Given the description of an element on the screen output the (x, y) to click on. 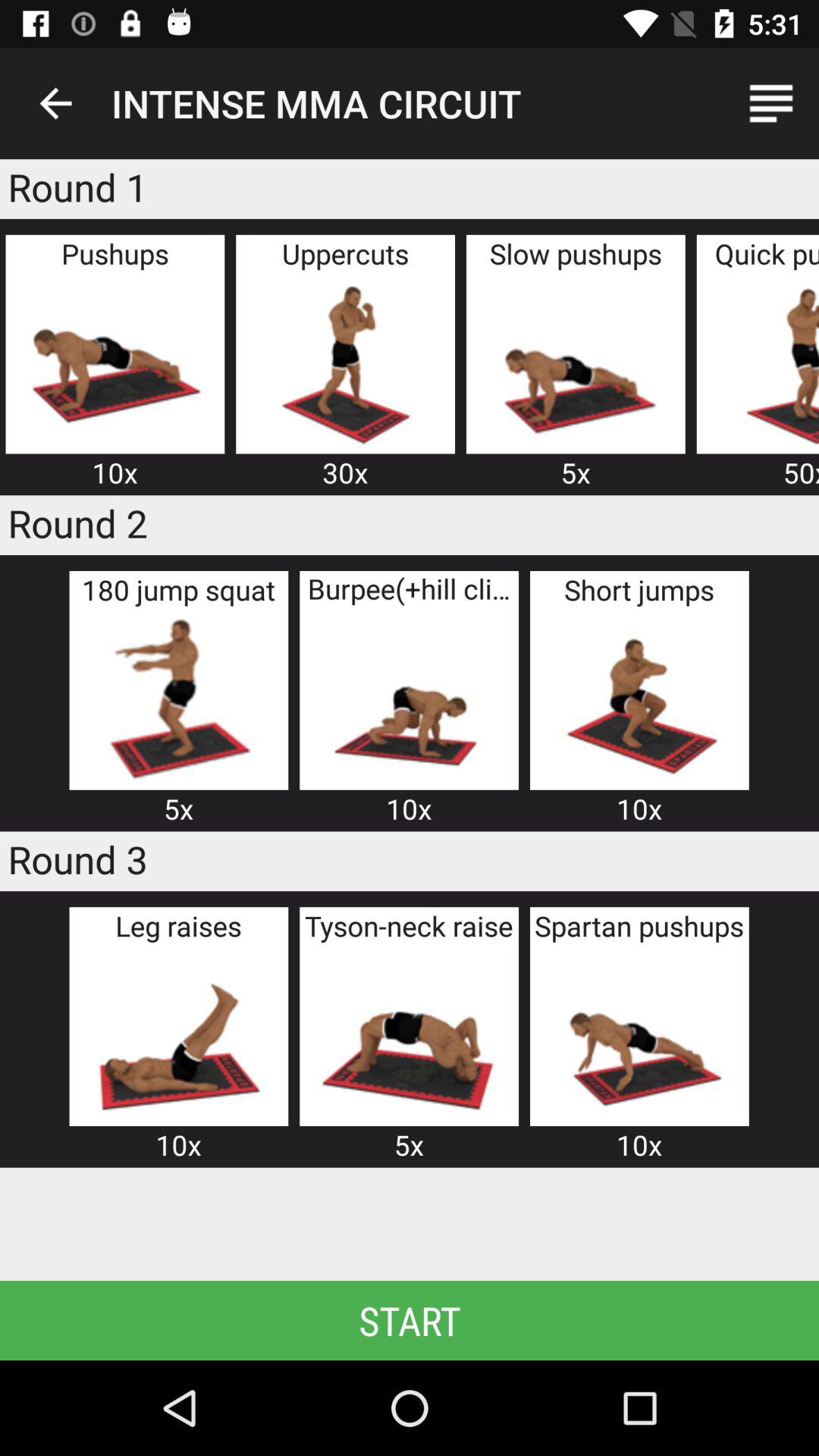
click item above the 30x (344, 362)
